Given the description of an element on the screen output the (x, y) to click on. 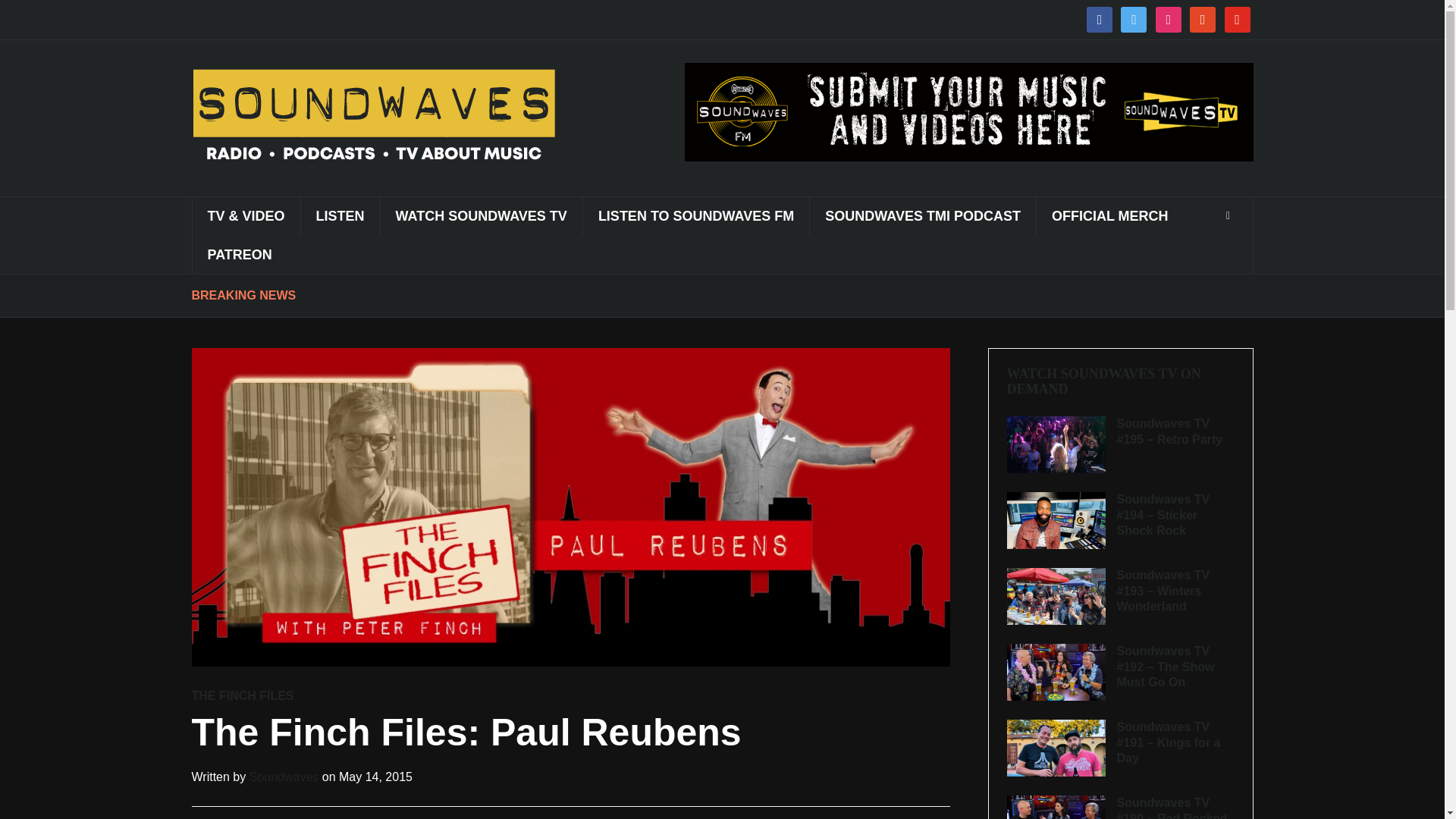
Friend me on Facebook (1099, 18)
Default Label (1202, 18)
patreon (1202, 18)
Follow Me (1134, 18)
Default Label (1236, 18)
facebook (1099, 18)
youtube (1236, 18)
Search (1227, 215)
instagram (1168, 18)
twitter (1134, 18)
